Given the description of an element on the screen output the (x, y) to click on. 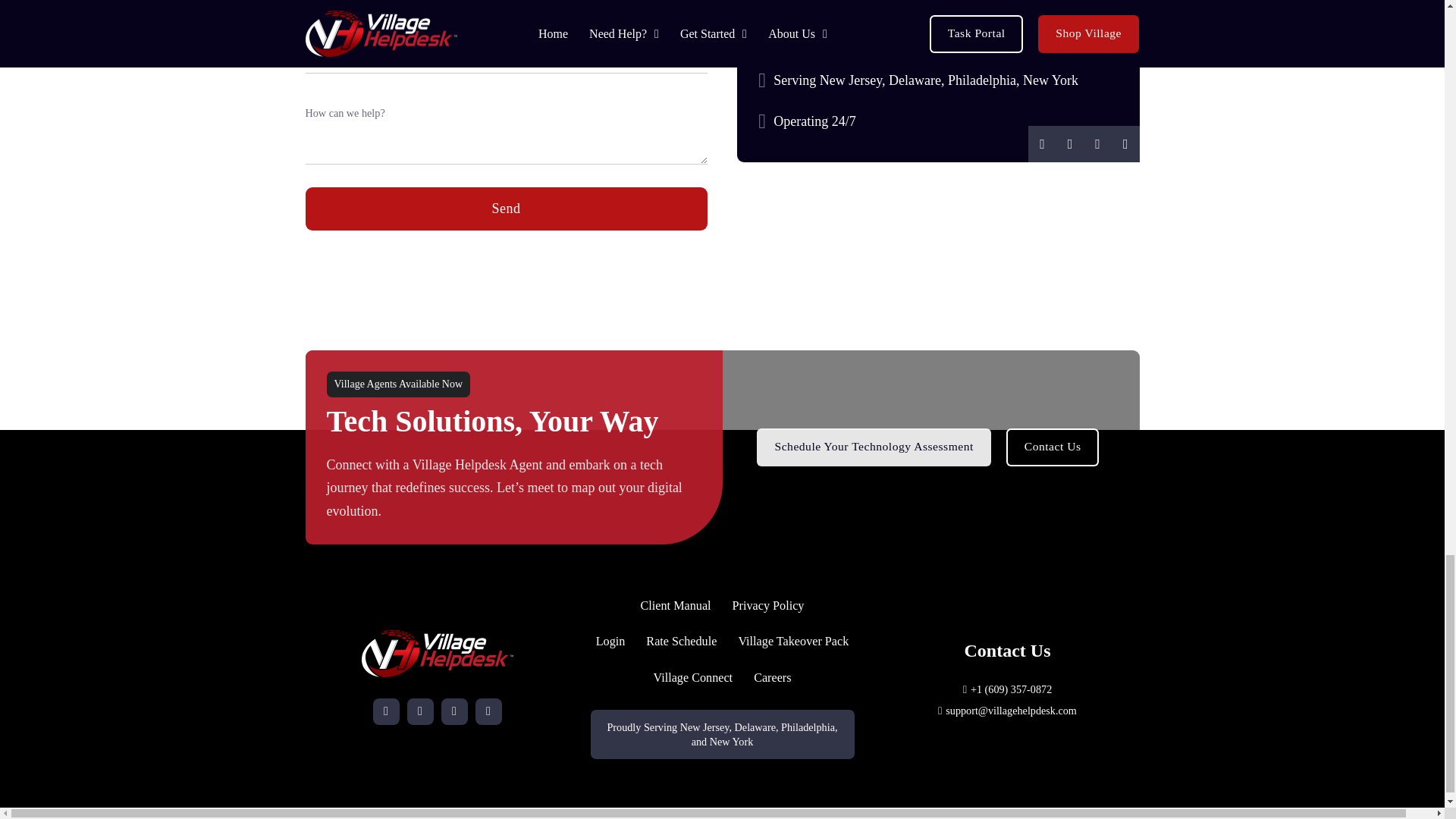
Send (505, 208)
